Given the description of an element on the screen output the (x, y) to click on. 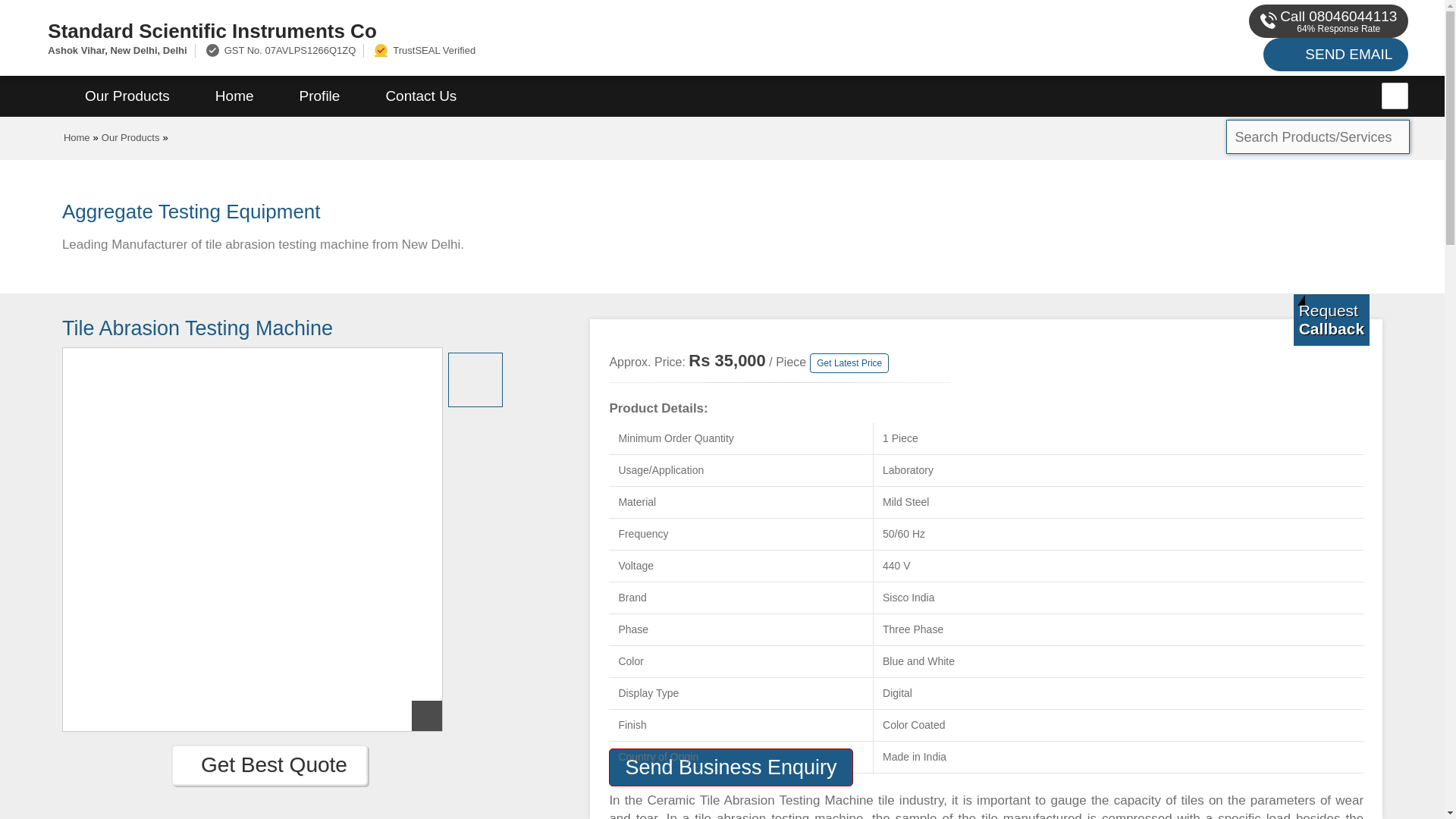
Our Products (127, 96)
Get a Call from us (1332, 319)
Standard Scientific Instruments Co (485, 31)
Profile (319, 96)
Home (234, 96)
